Given the description of an element on the screen output the (x, y) to click on. 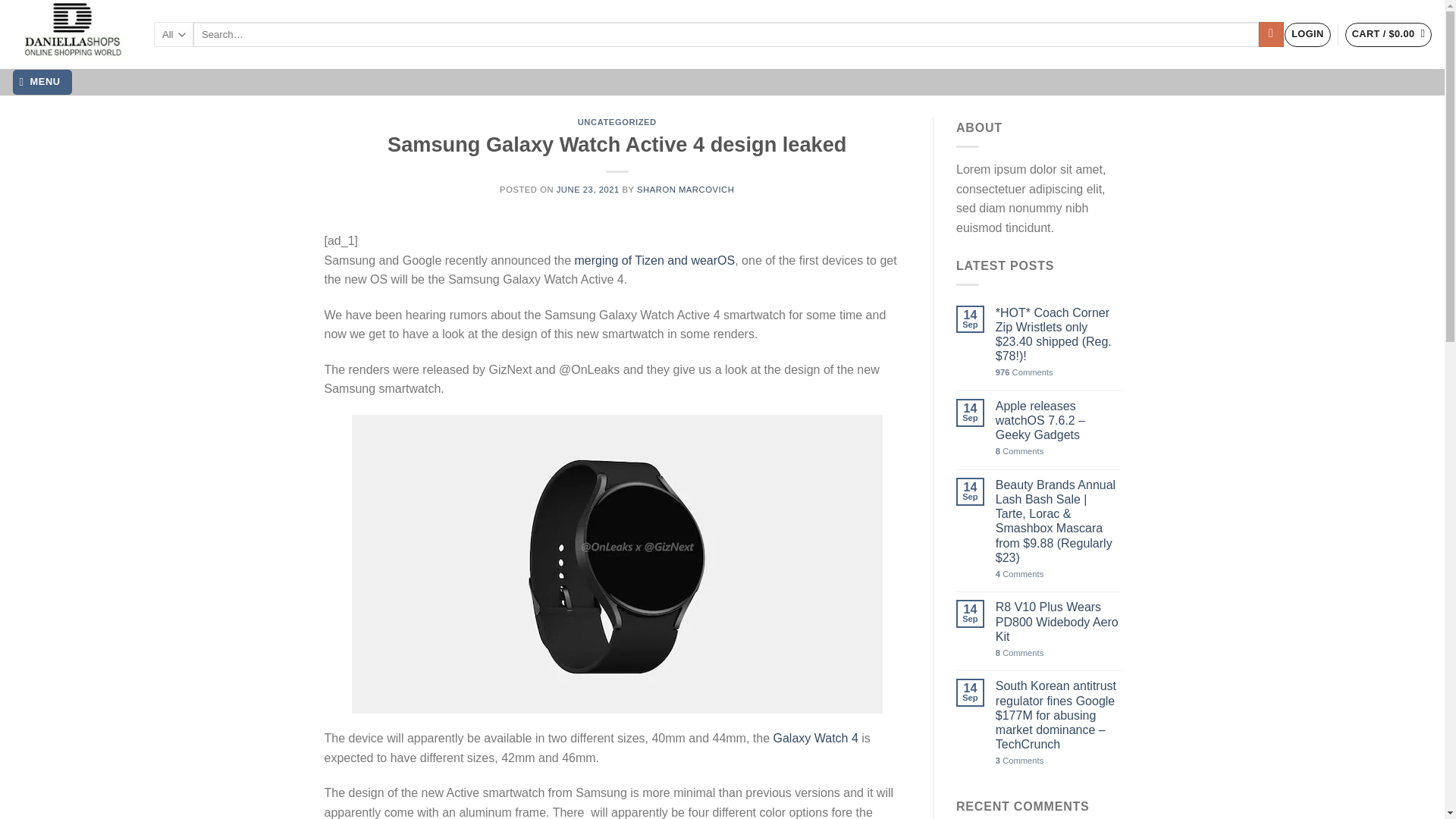
Galaxy Watch 4 (816, 738)
Login (1307, 34)
8 Comments (1058, 451)
976 Comments (1058, 372)
LOGIN (1307, 34)
MENU (42, 82)
SHARON MARCOVICH (685, 189)
Search (1271, 34)
UNCATEGORIZED (617, 121)
